Given the description of an element on the screen output the (x, y) to click on. 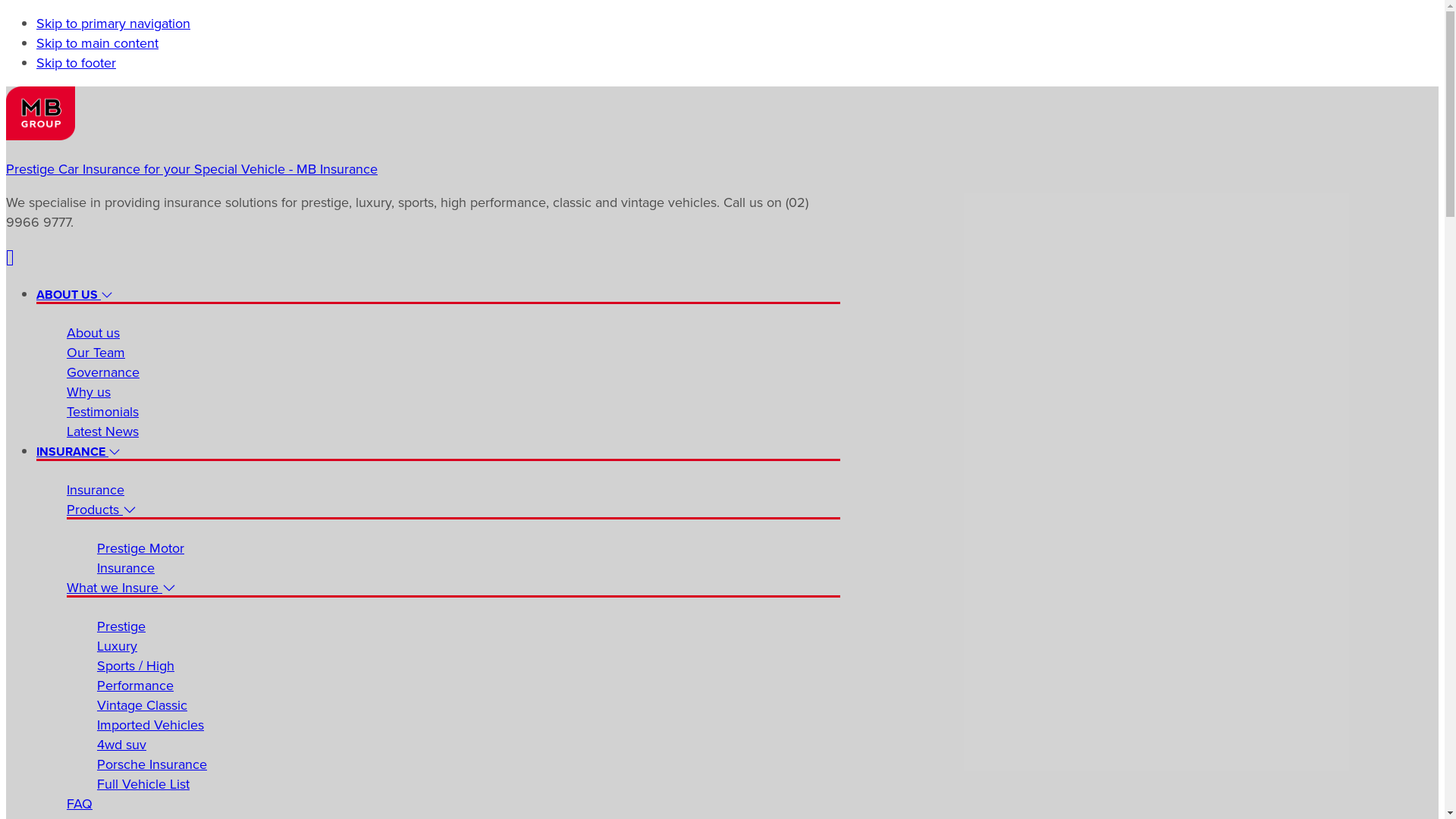
Prestige Element type: text (121, 626)
Latest News Element type: text (102, 431)
Why us Element type: text (88, 391)
Testimonials Element type: text (102, 411)
Our Team Element type: text (95, 352)
Skip to main content Element type: text (97, 43)
Porsche Insurance Element type: text (152, 764)
Prestige Motor
Insurance Element type: text (140, 557)
Full Vehicle List Element type: text (143, 783)
INSURANCE Element type: text (78, 451)
Luxury Element type: text (117, 645)
Governance Element type: text (102, 372)
What we Insure Element type: text (120, 587)
4wd suv Element type: text (121, 744)
Skip to primary navigation Element type: text (113, 23)
Sports / High
Performance Element type: text (135, 675)
About us Element type: text (92, 332)
ABOUT US Element type: text (74, 294)
Vintage Classic Element type: text (142, 705)
Imported Vehicles Element type: text (150, 724)
FAQ Element type: text (79, 803)
Insurance
Products Element type: text (101, 499)
Skip to footer Element type: text (76, 62)
